Given the description of an element on the screen output the (x, y) to click on. 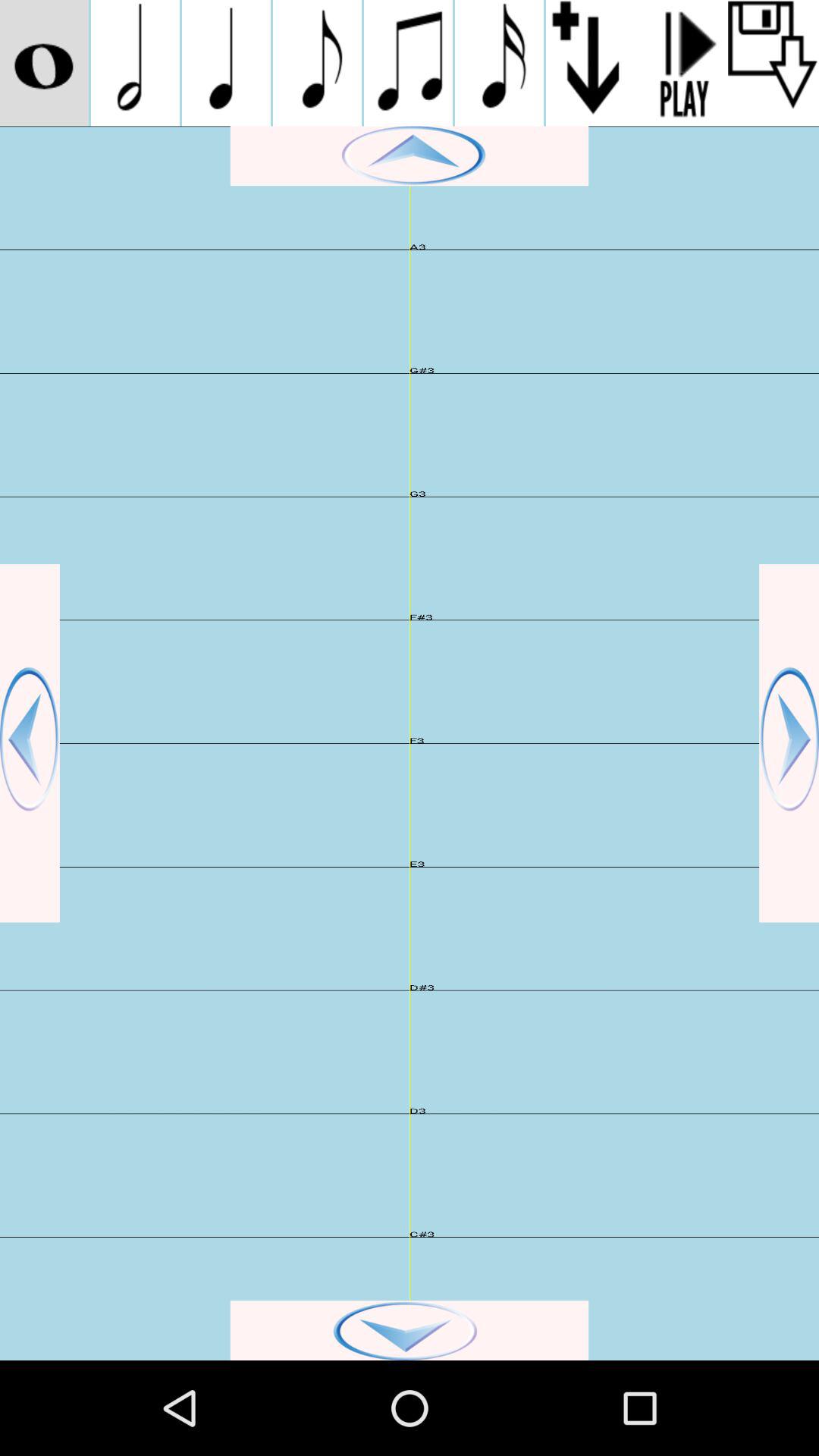
plays the song (682, 63)
